Given the description of an element on the screen output the (x, y) to click on. 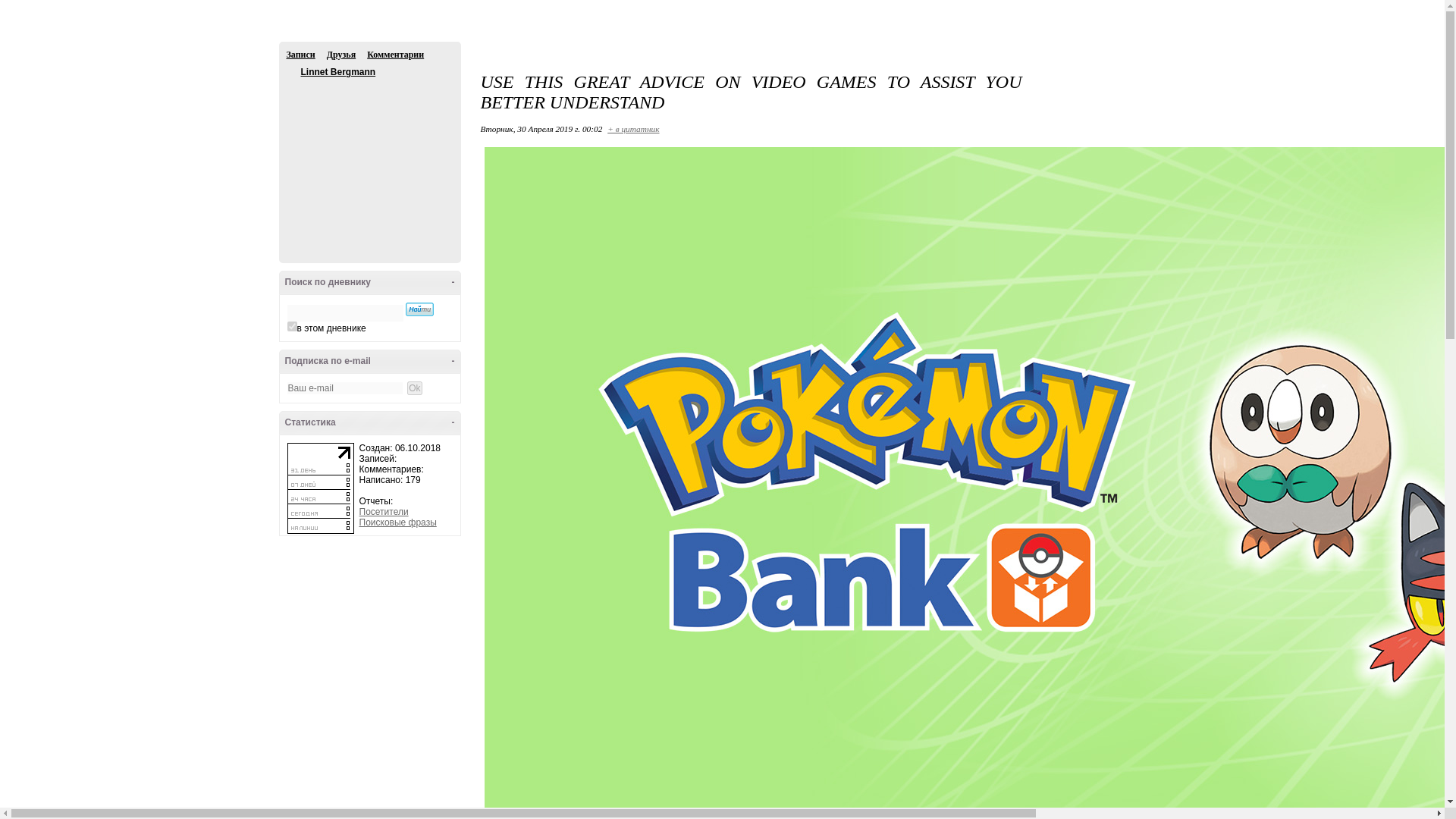
Linnet Bergmann (337, 71)
Ok (414, 387)
Ok (7, 6)
Ok (414, 387)
Linnet Bergmann (292, 72)
1 (291, 326)
